Given the description of an element on the screen output the (x, y) to click on. 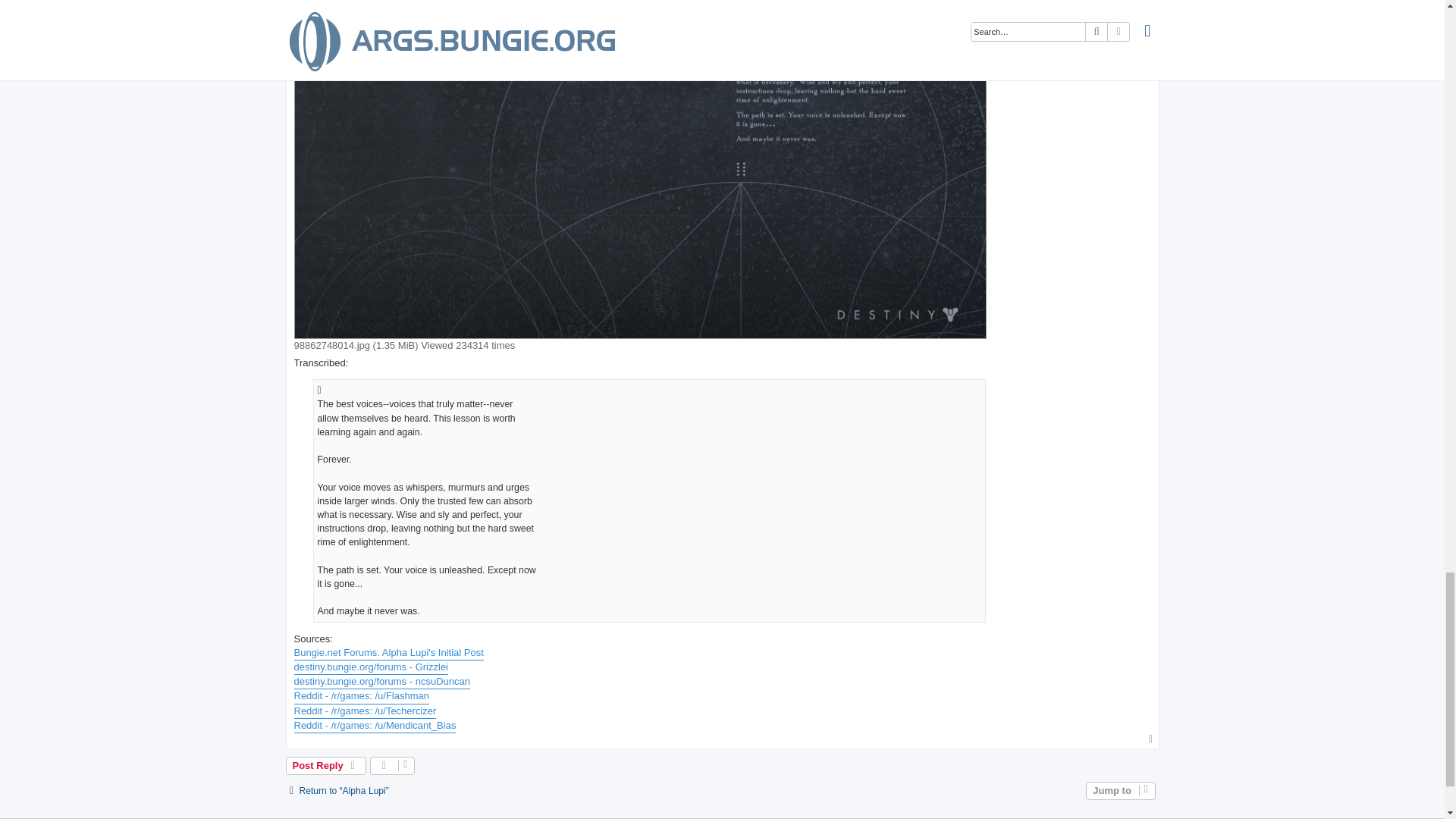
Post a reply (325, 765)
Bungie.net Forums. Alpha Lupi's Initial Post (388, 653)
Top (1151, 738)
